Given the description of an element on the screen output the (x, y) to click on. 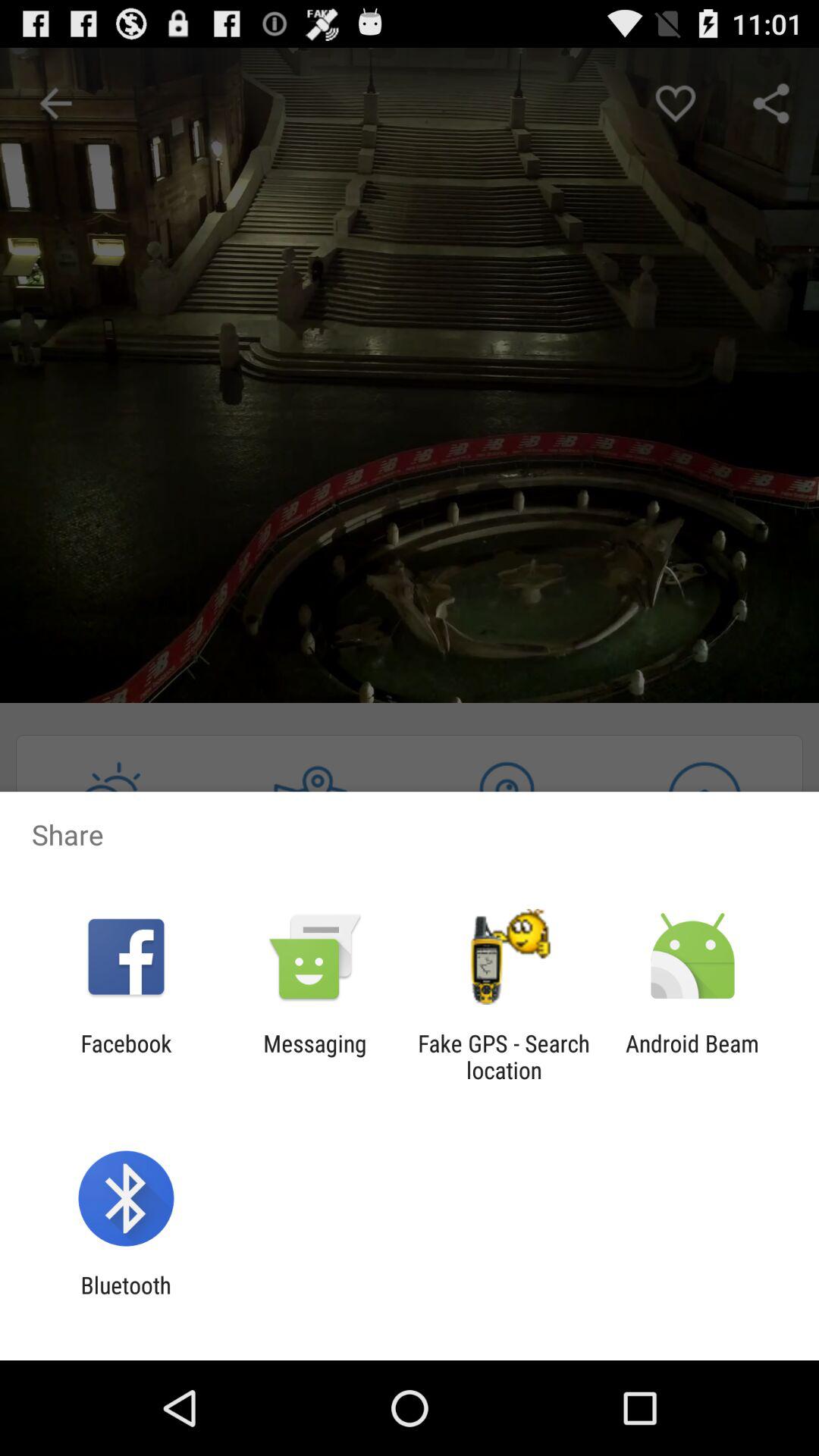
turn off app next to fake gps search (314, 1056)
